Given the description of an element on the screen output the (x, y) to click on. 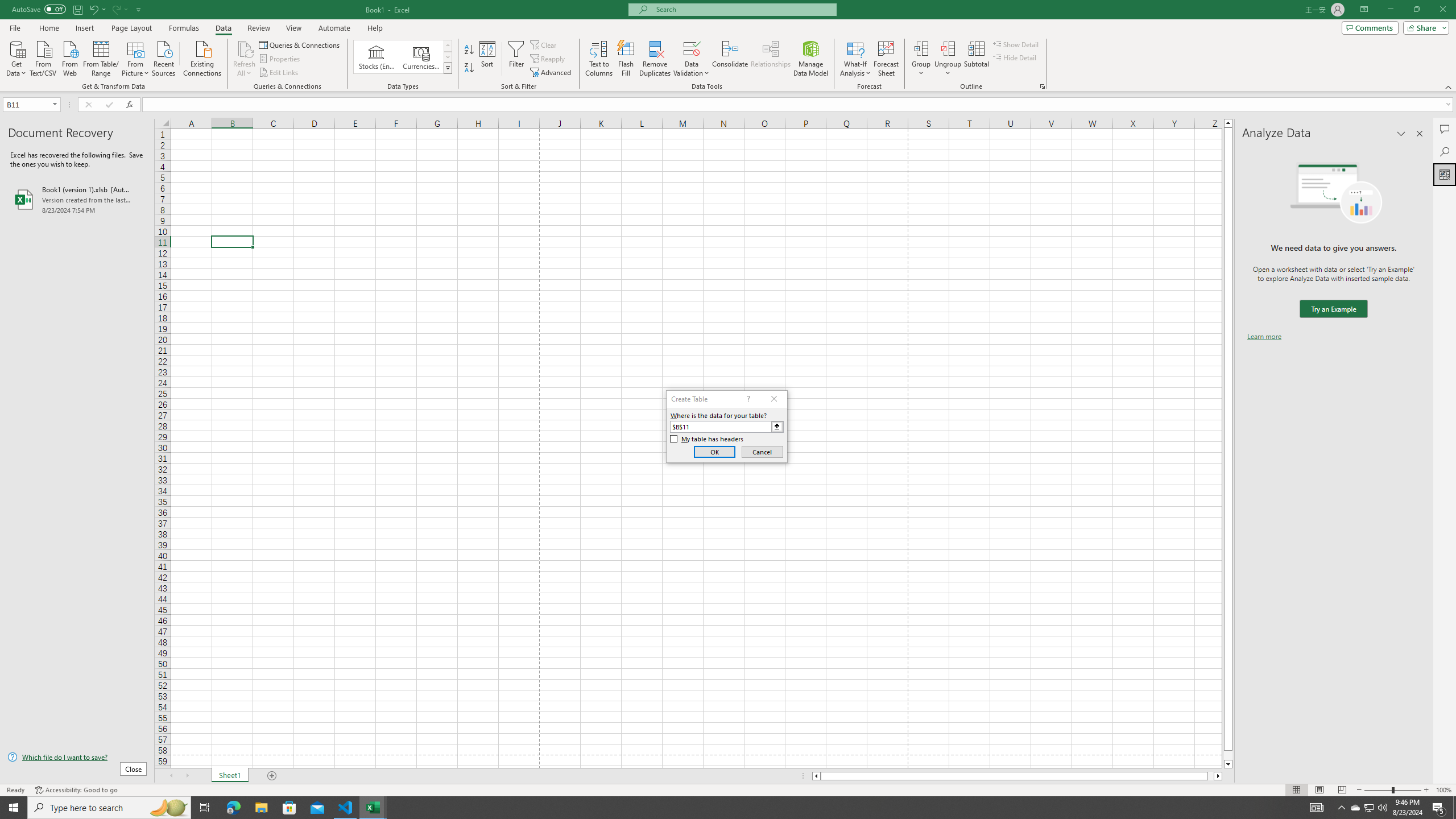
Currencies (English) (420, 56)
From Web (69, 57)
Class: NetUIImage (447, 68)
Remove Duplicates (654, 58)
Data Types (448, 67)
Forecast Sheet (885, 58)
